Given the description of an element on the screen output the (x, y) to click on. 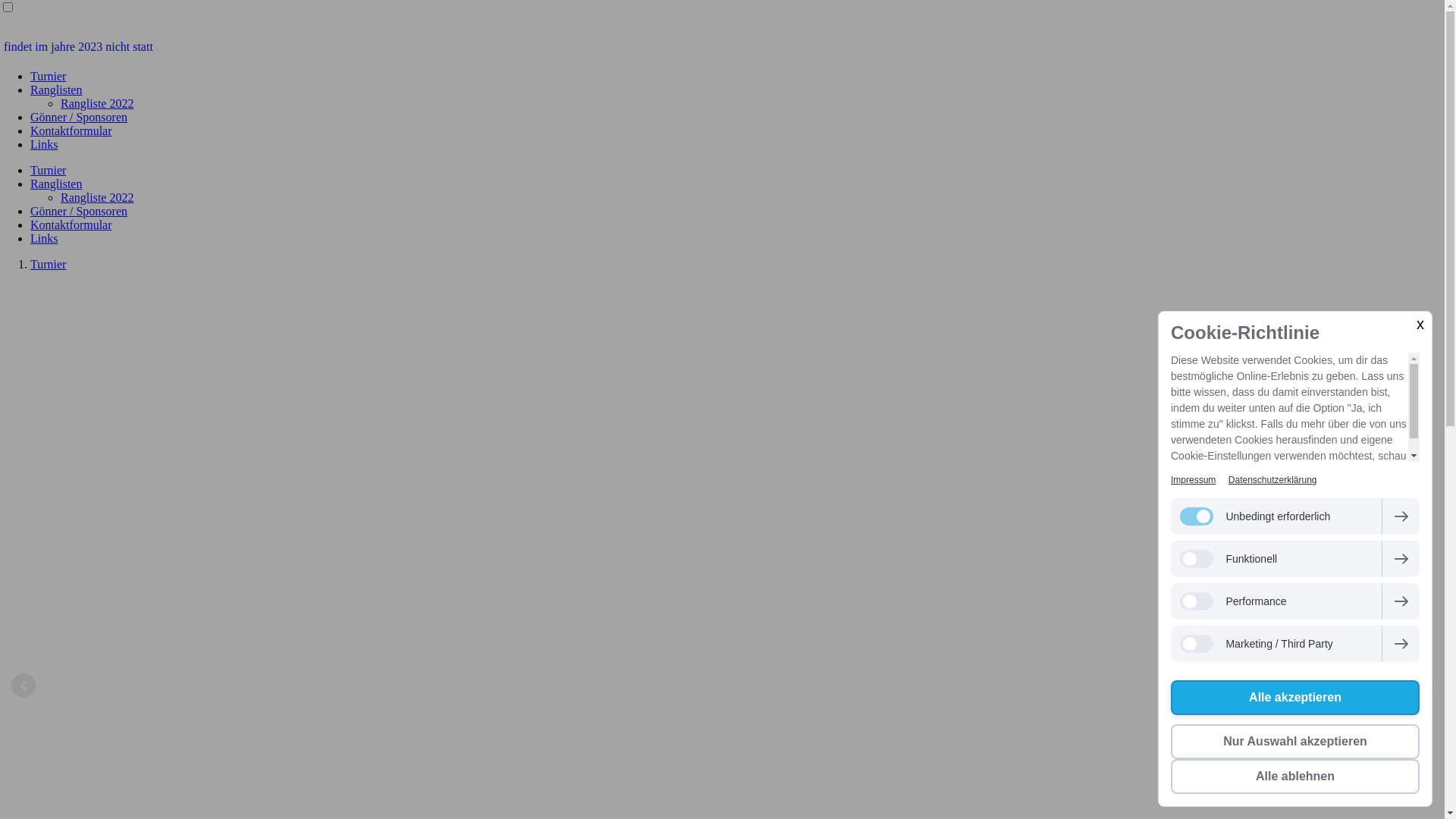
Turnier Element type: text (47, 75)
Links Element type: text (43, 238)
Ranglisten Element type: text (55, 89)
Rangliste 2022 Element type: text (96, 197)
Impressum Element type: text (1192, 479)
Turnier Element type: text (47, 169)
Alle ablehnen Element type: text (1294, 776)
Kontaktformular Element type: text (71, 224)
findet im jahre 2023 nicht statt Element type: text (721, 46)
Turnier Element type: text (47, 263)
Rangliste 2022 Element type: text (96, 103)
Links Element type: text (43, 144)
Kontaktformular Element type: text (71, 130)
Nur Auswahl akzeptieren Element type: text (1294, 741)
Ranglisten Element type: text (55, 183)
Alle akzeptieren Element type: text (1294, 697)
